Given the description of an element on the screen output the (x, y) to click on. 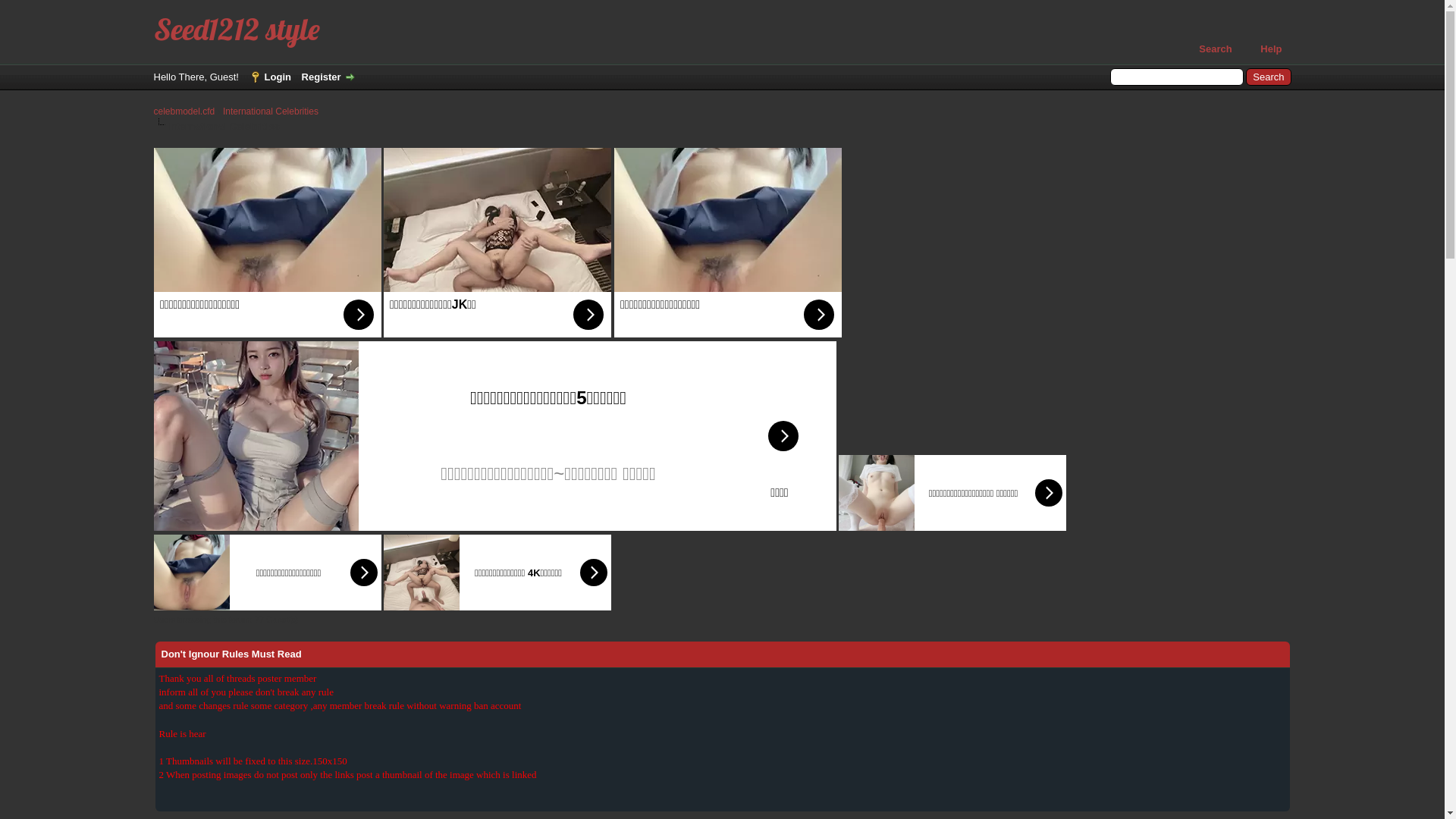
Login Element type: text (270, 76)
Register Element type: text (328, 76)
International Celebrities Element type: text (270, 111)
Seed1212 style Element type: text (236, 28)
Search Element type: text (1267, 76)
celebmodel.cfd Element type: text (183, 111)
Search Element type: text (1207, 49)
Help Element type: text (1263, 49)
